Given the description of an element on the screen output the (x, y) to click on. 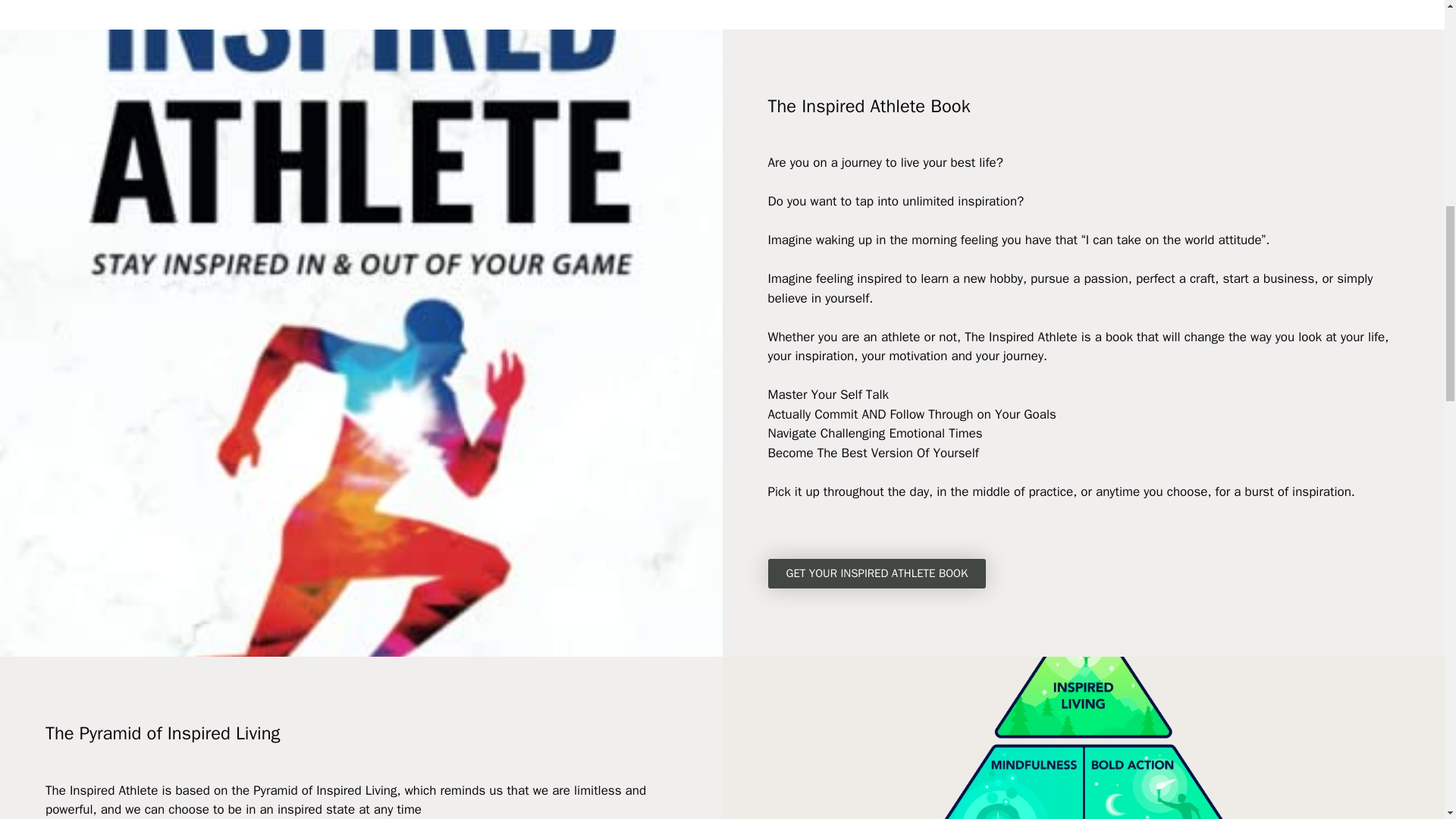
GET YOUR INSPIRED ATHLETE BOOK (876, 573)
